Given the description of an element on the screen output the (x, y) to click on. 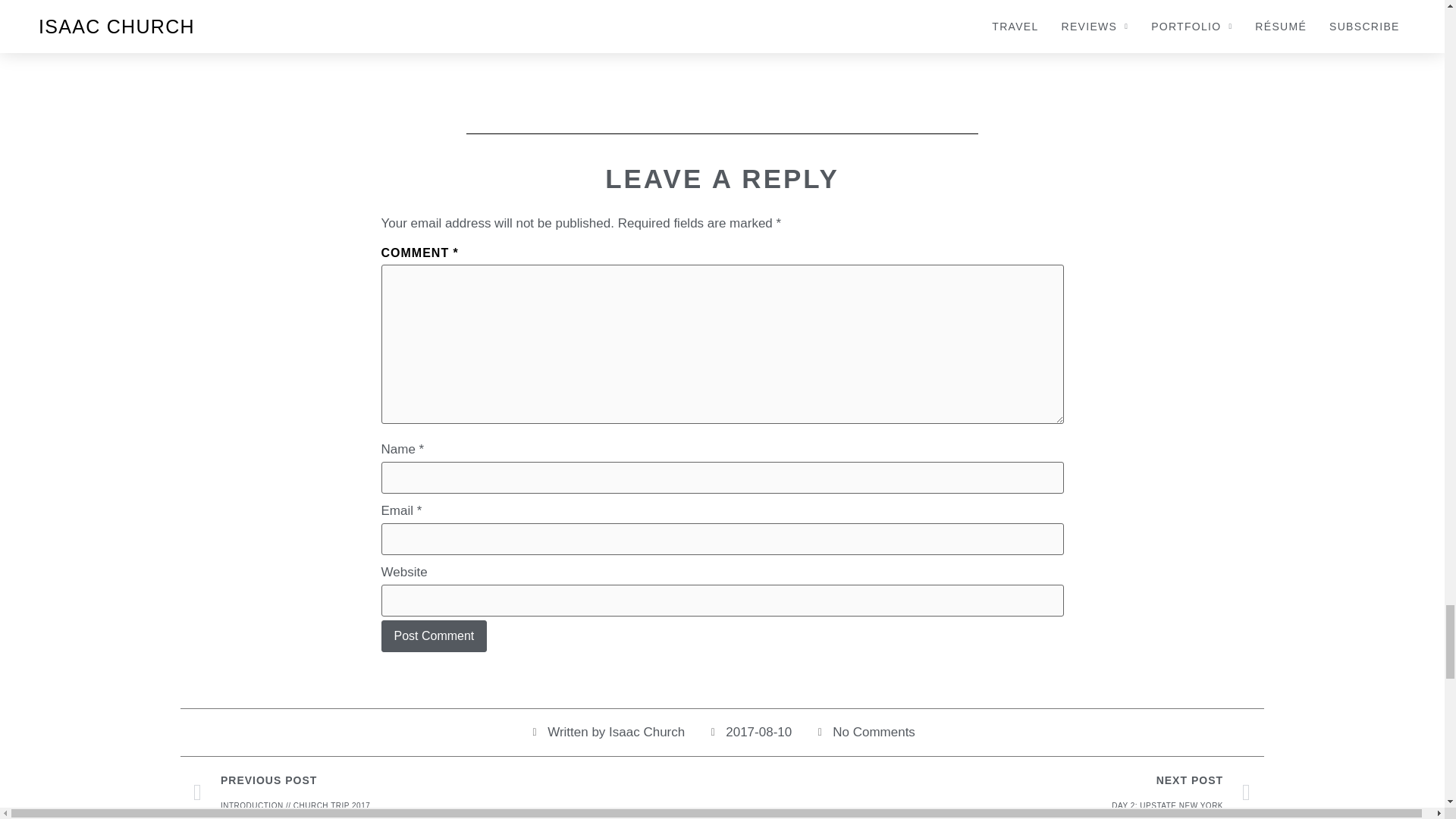
Post Comment (433, 635)
